Given the description of an element on the screen output the (x, y) to click on. 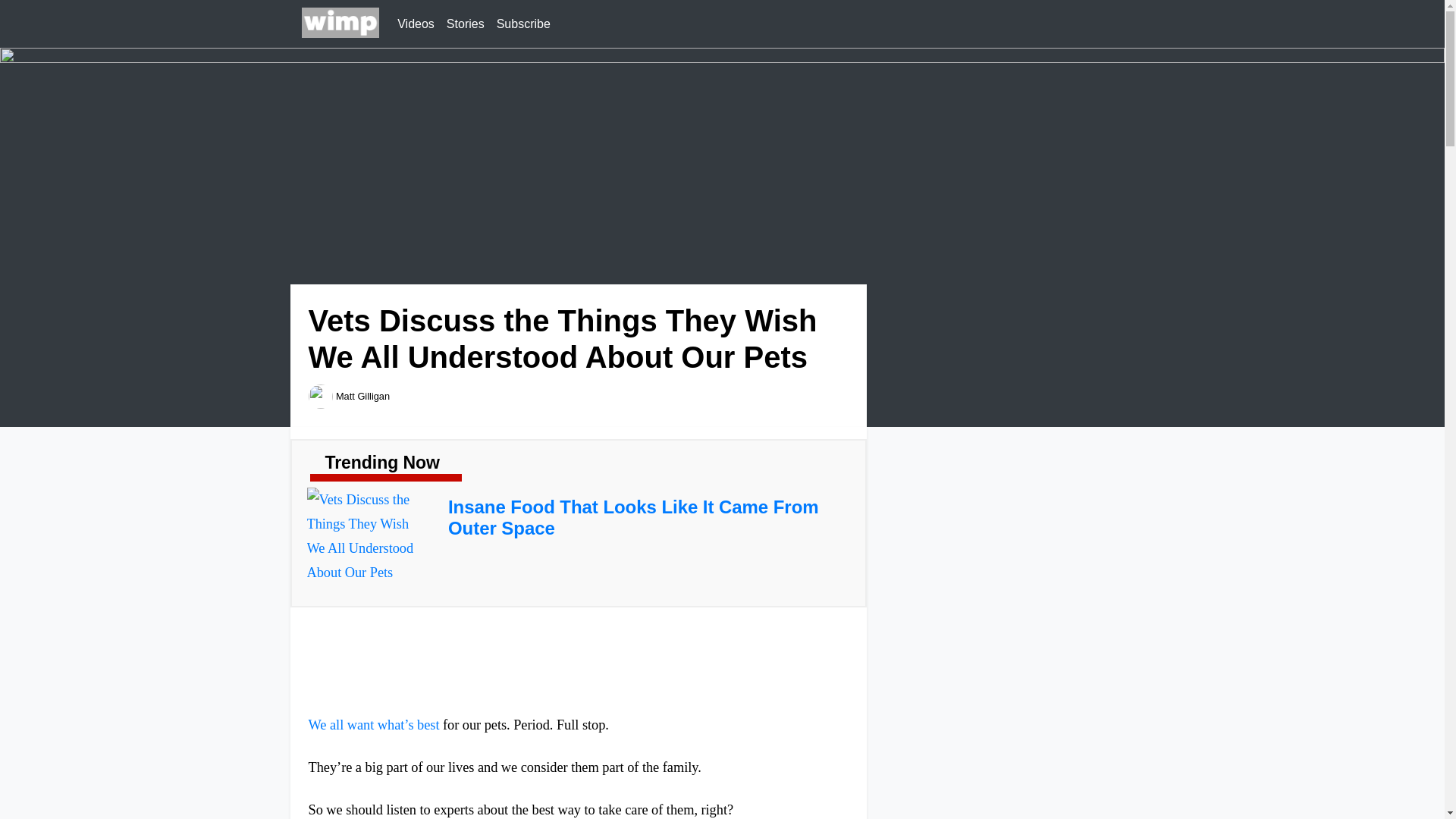
Subscribe (523, 24)
Stories (465, 24)
Insane Food That Looks Like It Came From Outer Space (633, 517)
Videos (416, 24)
Matt Gilligan (363, 396)
Wimp (340, 23)
Posts by Matt Gilligan (363, 396)
